Given the description of an element on the screen output the (x, y) to click on. 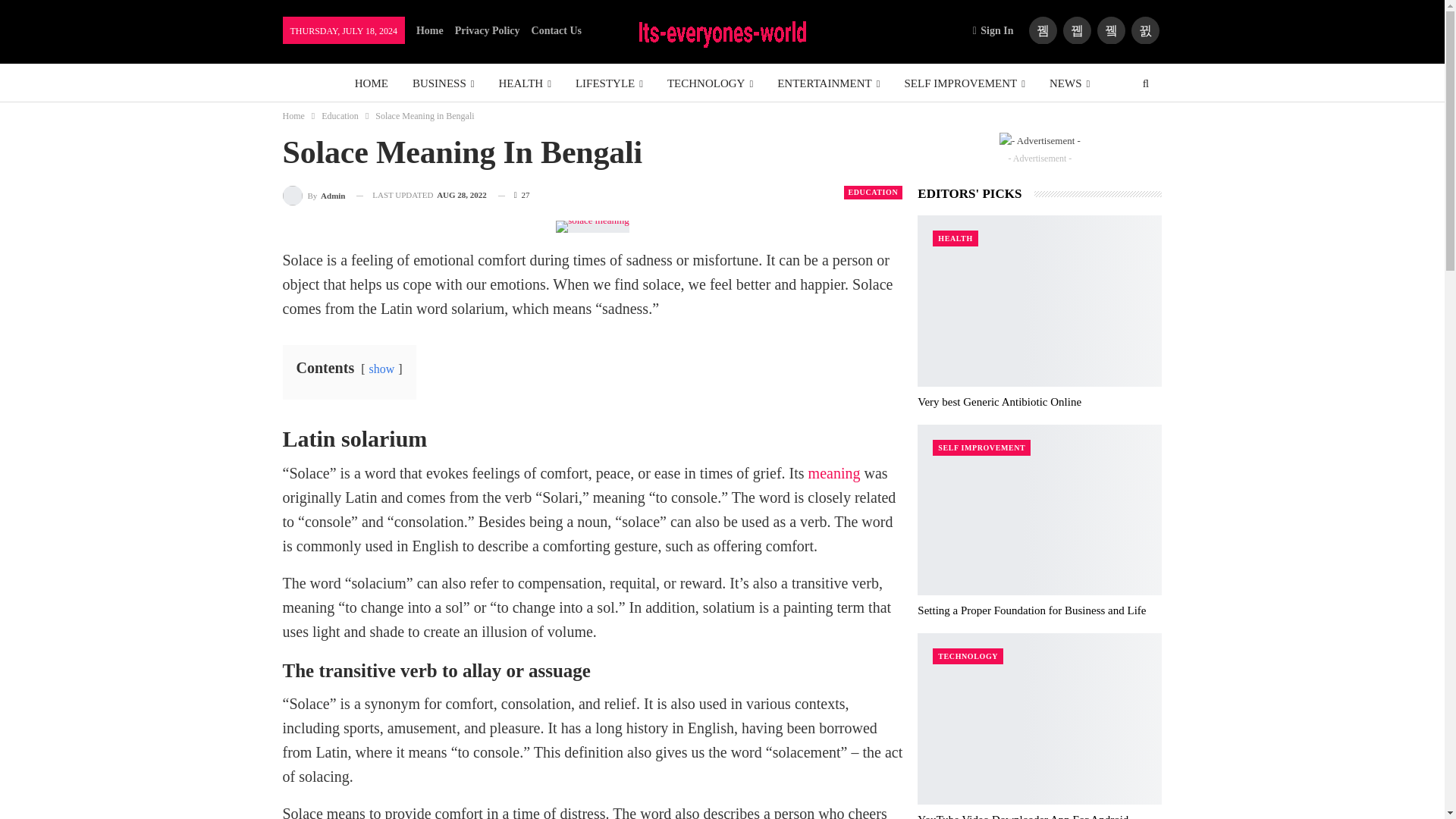
Sign In (996, 30)
ENTERTAINMENT (828, 83)
Browse Author Articles (313, 195)
LIFESTYLE (609, 83)
Home (430, 30)
Privacy Policy (486, 30)
Contact Us (556, 30)
HEALTH (524, 83)
BUSINESS (443, 83)
Very best Generic Antibiotic Online (1039, 300)
Very best Generic Antibiotic Online (999, 401)
TECHNOLOGY (709, 83)
HOME (371, 83)
